Given the description of an element on the screen output the (x, y) to click on. 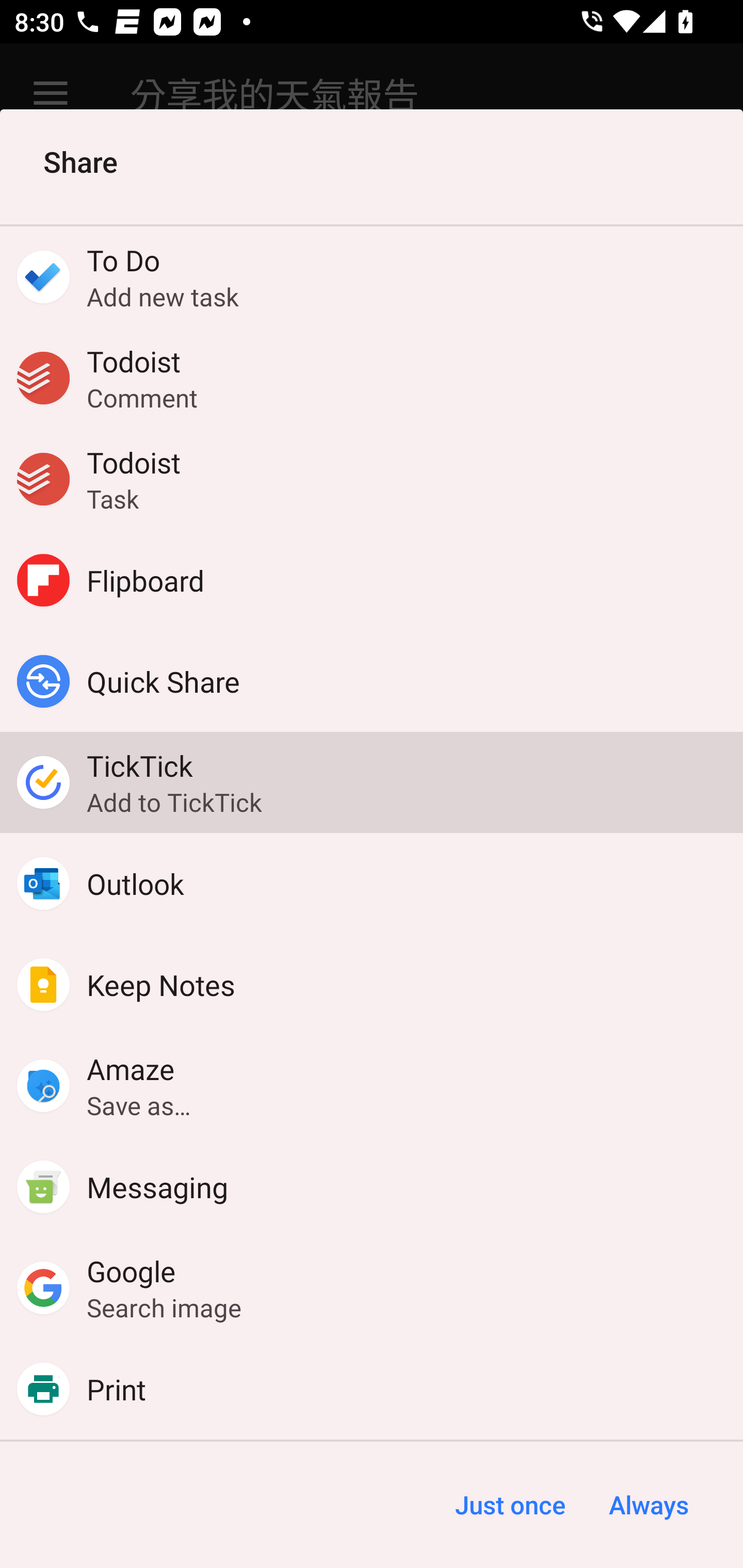
To Do Add new task (371, 276)
Todoist Comment (371, 377)
Todoist Task (371, 478)
Flipboard (371, 579)
Quick Share (371, 681)
TickTick Add to TickTick (371, 782)
Outlook (371, 883)
Keep Notes (371, 984)
Amaze Save as… (371, 1085)
Messaging (371, 1186)
Google Search image (371, 1288)
Print (371, 1389)
Just once (509, 1504)
Always (648, 1504)
